Given the description of an element on the screen output the (x, y) to click on. 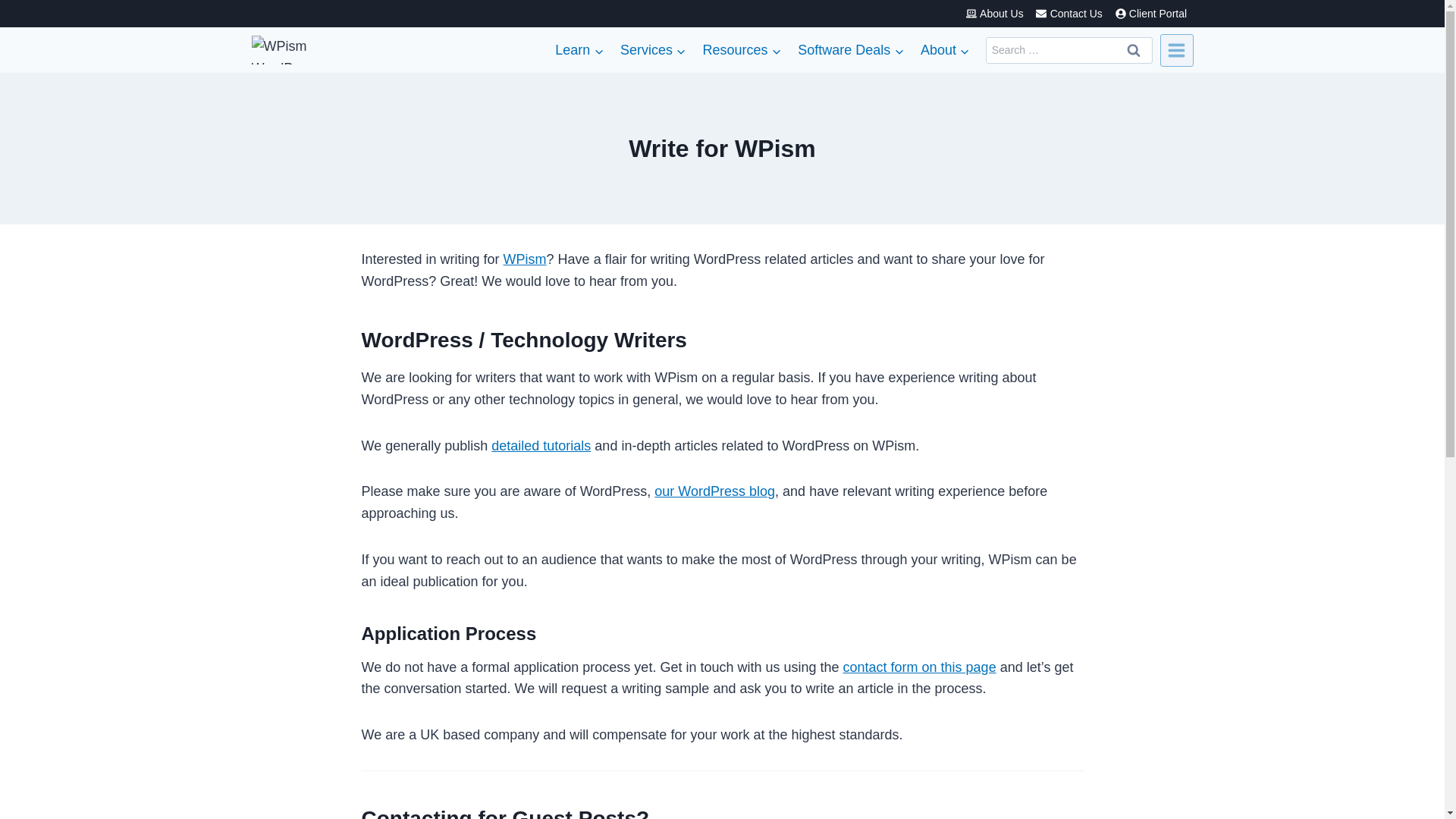
Services (652, 49)
Search (1134, 50)
Client Portal (1150, 13)
Learn (579, 49)
Search (1134, 50)
Contact Us (1068, 13)
Search (1134, 50)
About Us (994, 13)
Software Deals (850, 49)
